Given the description of an element on the screen output the (x, y) to click on. 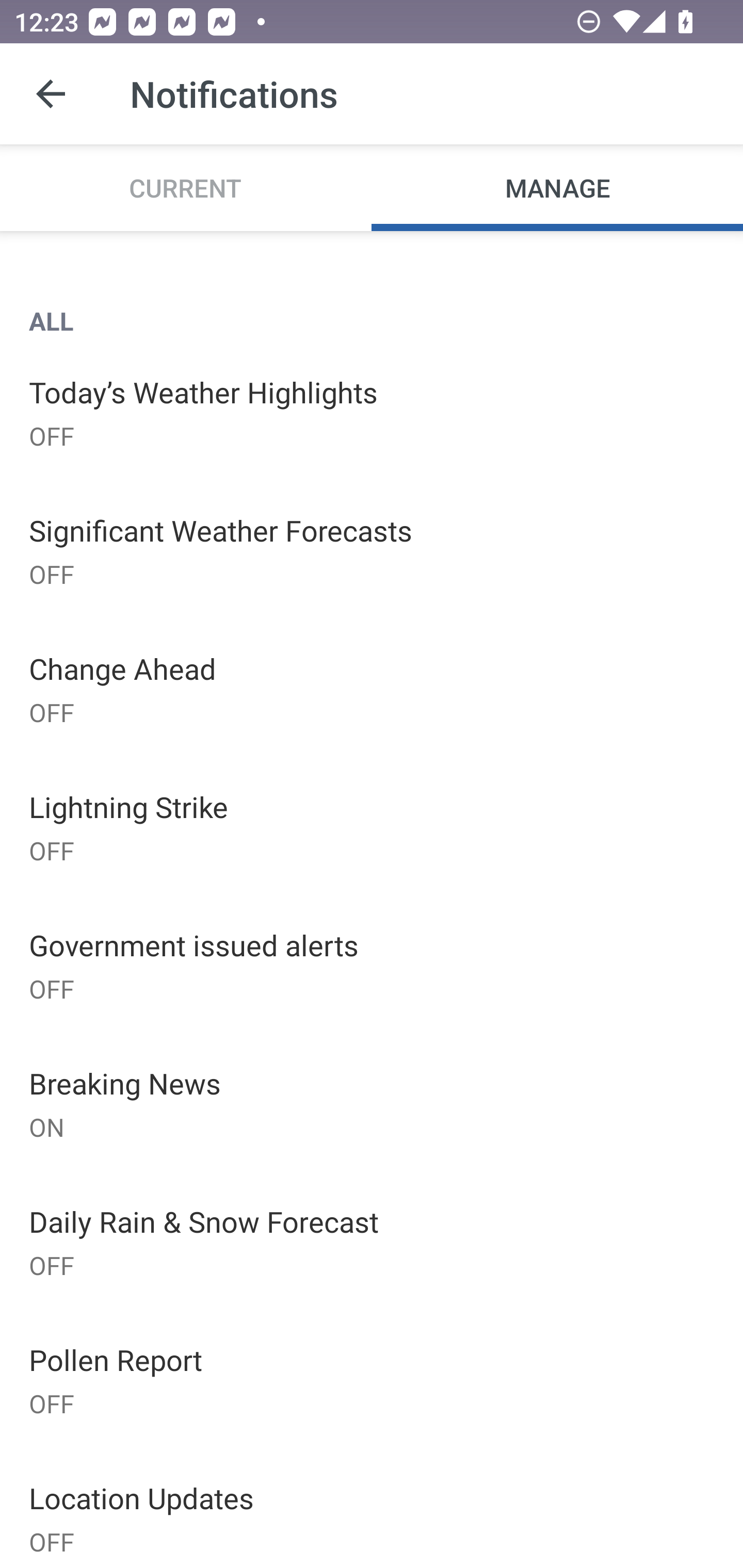
Navigate up (50, 93)
Current Tab CURRENT (185, 187)
Today’s Weather Highlights OFF (371, 412)
Significant Weather Forecasts OFF (371, 550)
Change Ahead OFF (371, 688)
Lightning Strike OFF (371, 827)
Government issued alerts OFF (371, 965)
Breaking News ON (371, 1103)
Daily Rain & Snow Forecast OFF (371, 1241)
Pollen Report OFF (371, 1379)
Location Updates OFF (371, 1508)
